Given the description of an element on the screen output the (x, y) to click on. 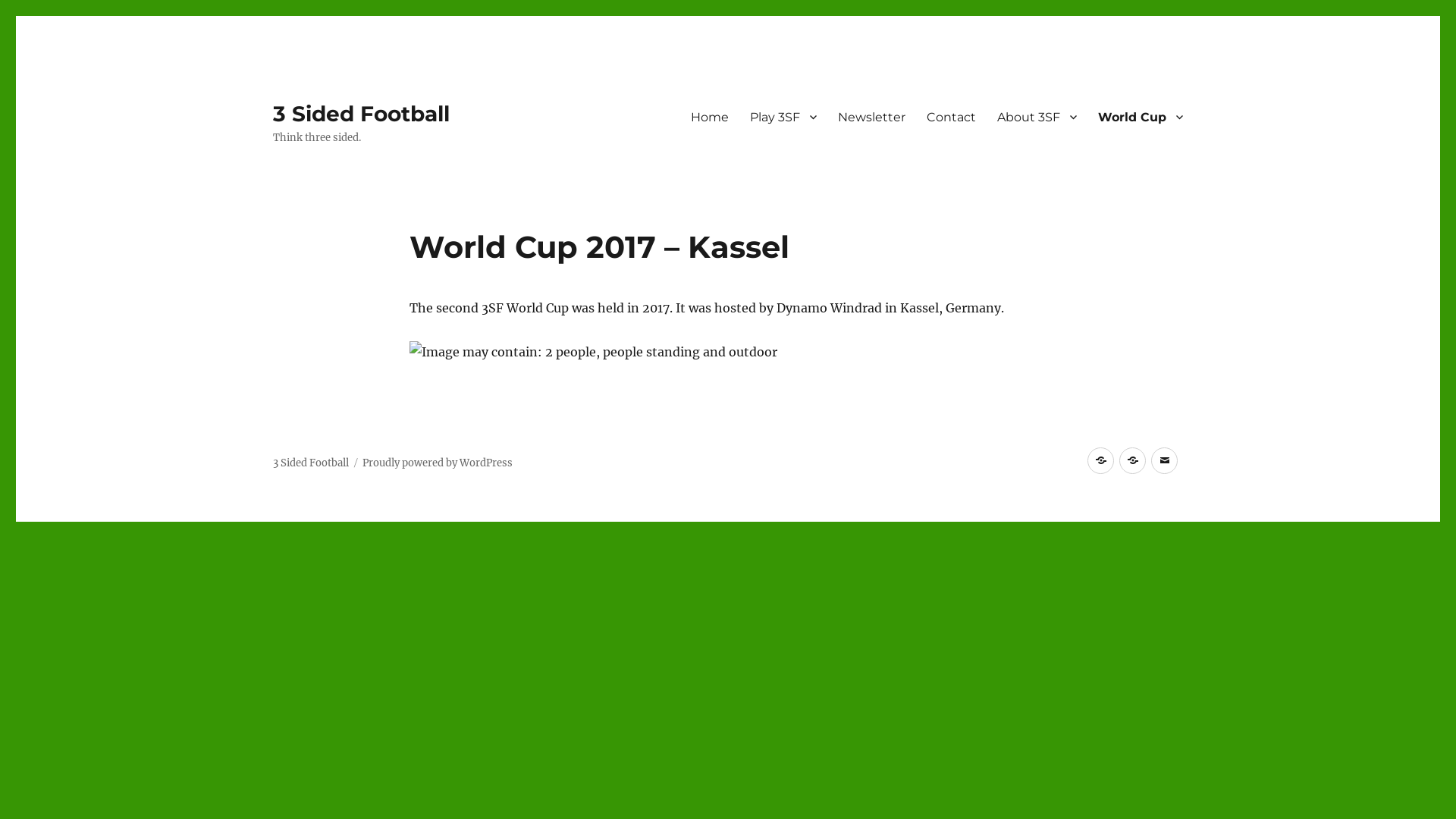
Email Element type: text (1164, 460)
Proudly powered by WordPress Element type: text (437, 462)
Twitter Element type: text (1132, 460)
3 Sided Football Element type: text (310, 462)
World Cup Element type: text (1140, 116)
Play 3SF Element type: text (783, 116)
3 Sided Football Element type: text (361, 113)
Newsletter Element type: text (871, 116)
Contact Element type: text (951, 116)
Facebook Element type: text (1100, 460)
Home Element type: text (709, 116)
About 3SF Element type: text (1036, 116)
